Given the description of an element on the screen output the (x, y) to click on. 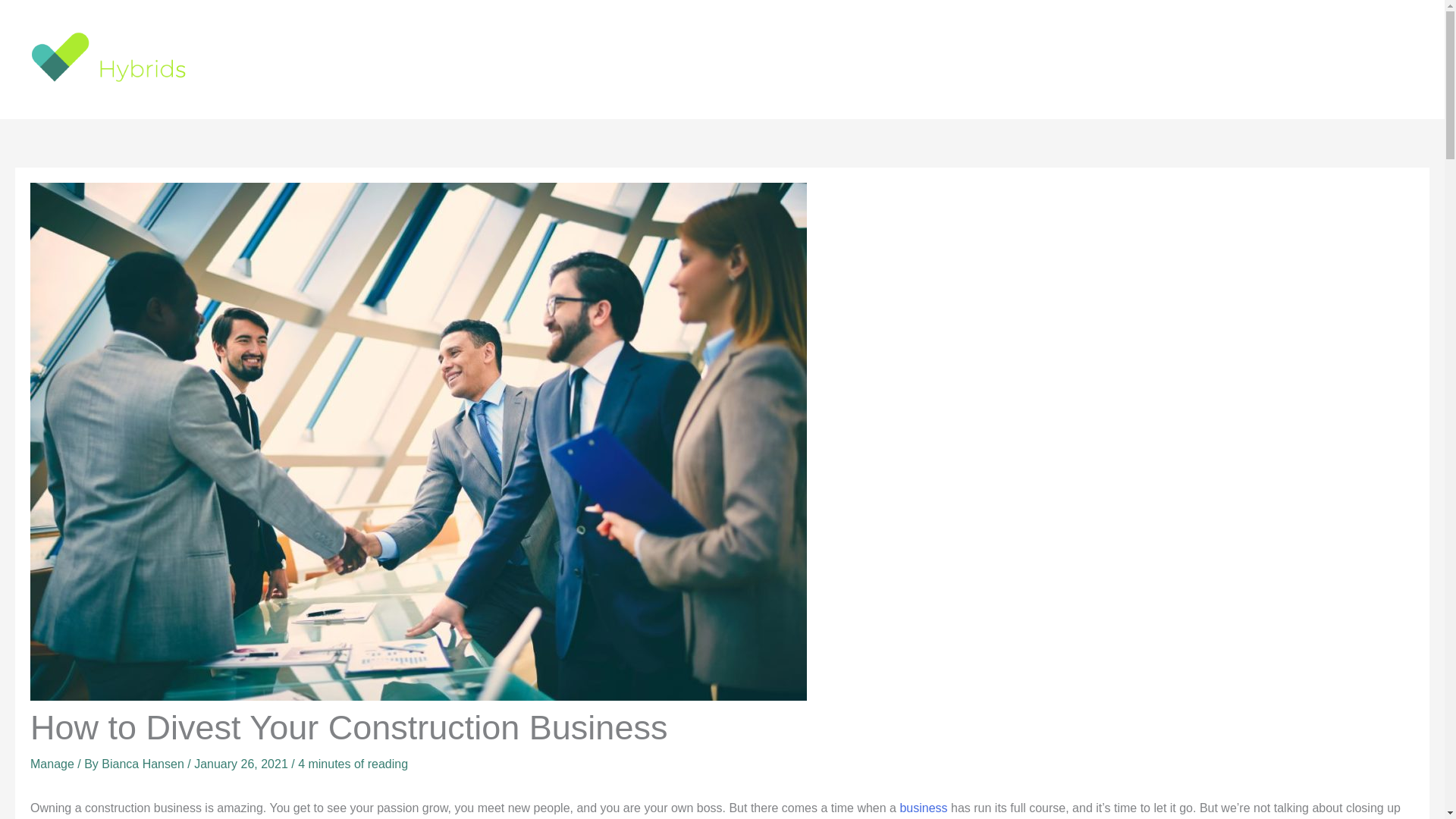
View all posts by Bianca Hansen (144, 763)
FOLLOW TRENDS (1153, 57)
business (923, 807)
MANAGE (1259, 57)
FINANCE (1049, 57)
Bianca Hansen (144, 763)
Manage (52, 763)
STRATEGIZE (1350, 57)
